Given the description of an element on the screen output the (x, y) to click on. 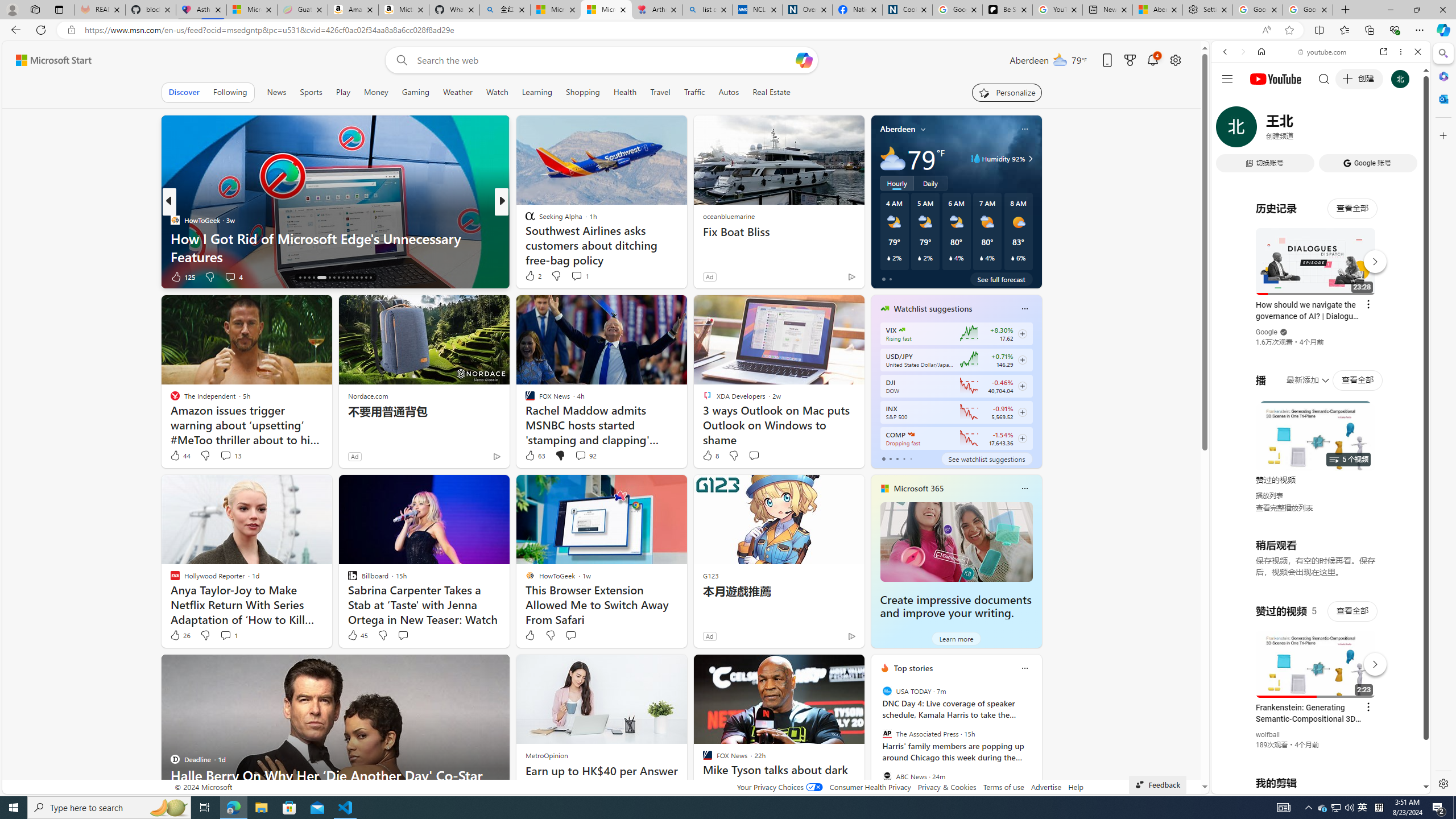
25 Like (530, 276)
G123 (710, 574)
Personalize your feed" (1007, 92)
16 Like (530, 276)
SB Nation (524, 219)
AutomationID: tab-28 (361, 277)
